Given the description of an element on the screen output the (x, y) to click on. 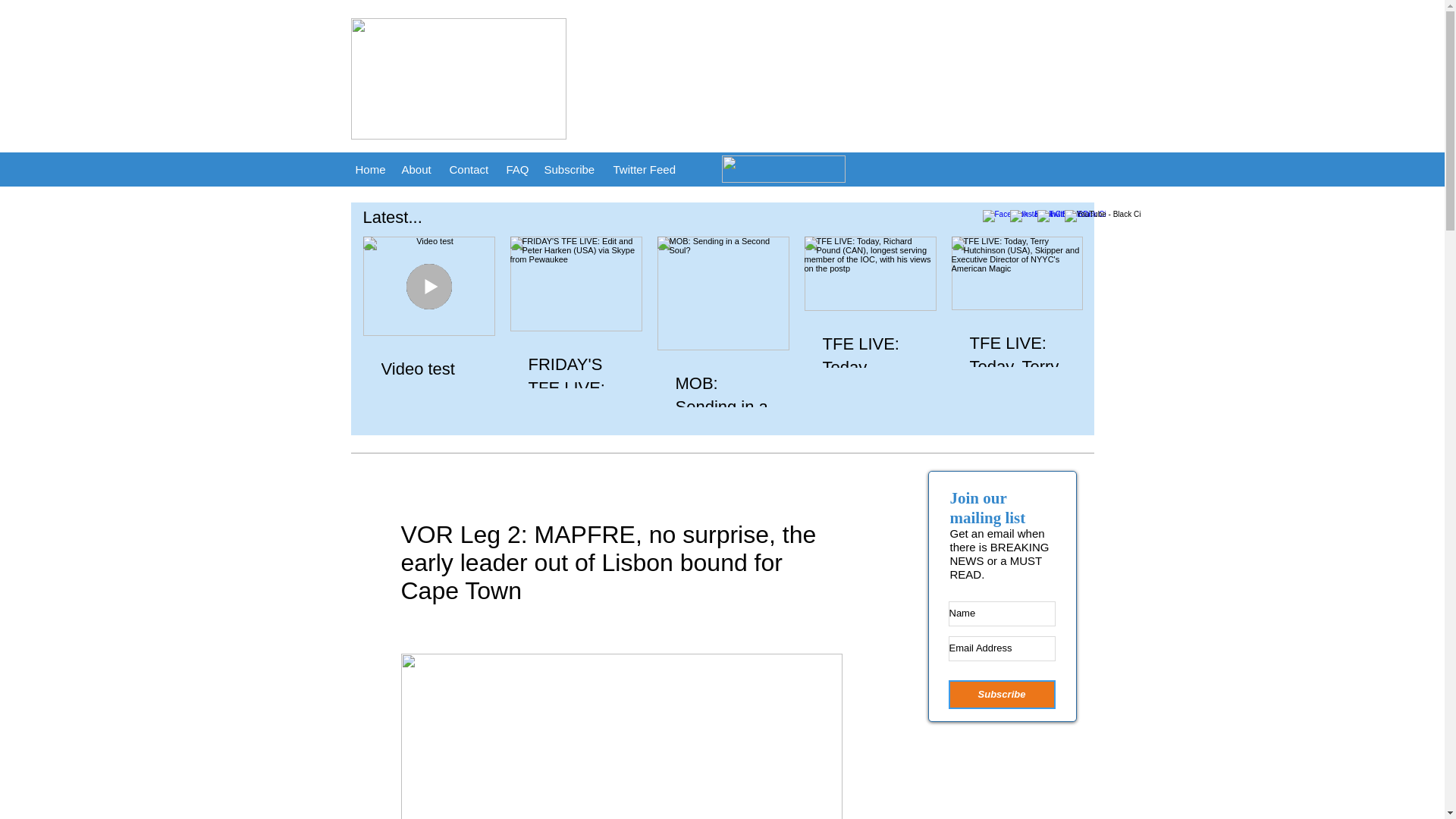
Twitter Feed (645, 168)
Video test (428, 369)
Subscribe (571, 168)
MOB: Sending in a Second Soul? (722, 419)
Subscribe (1000, 694)
Home (370, 168)
FAQ (518, 168)
Contact (469, 168)
About (418, 168)
